Given the description of an element on the screen output the (x, y) to click on. 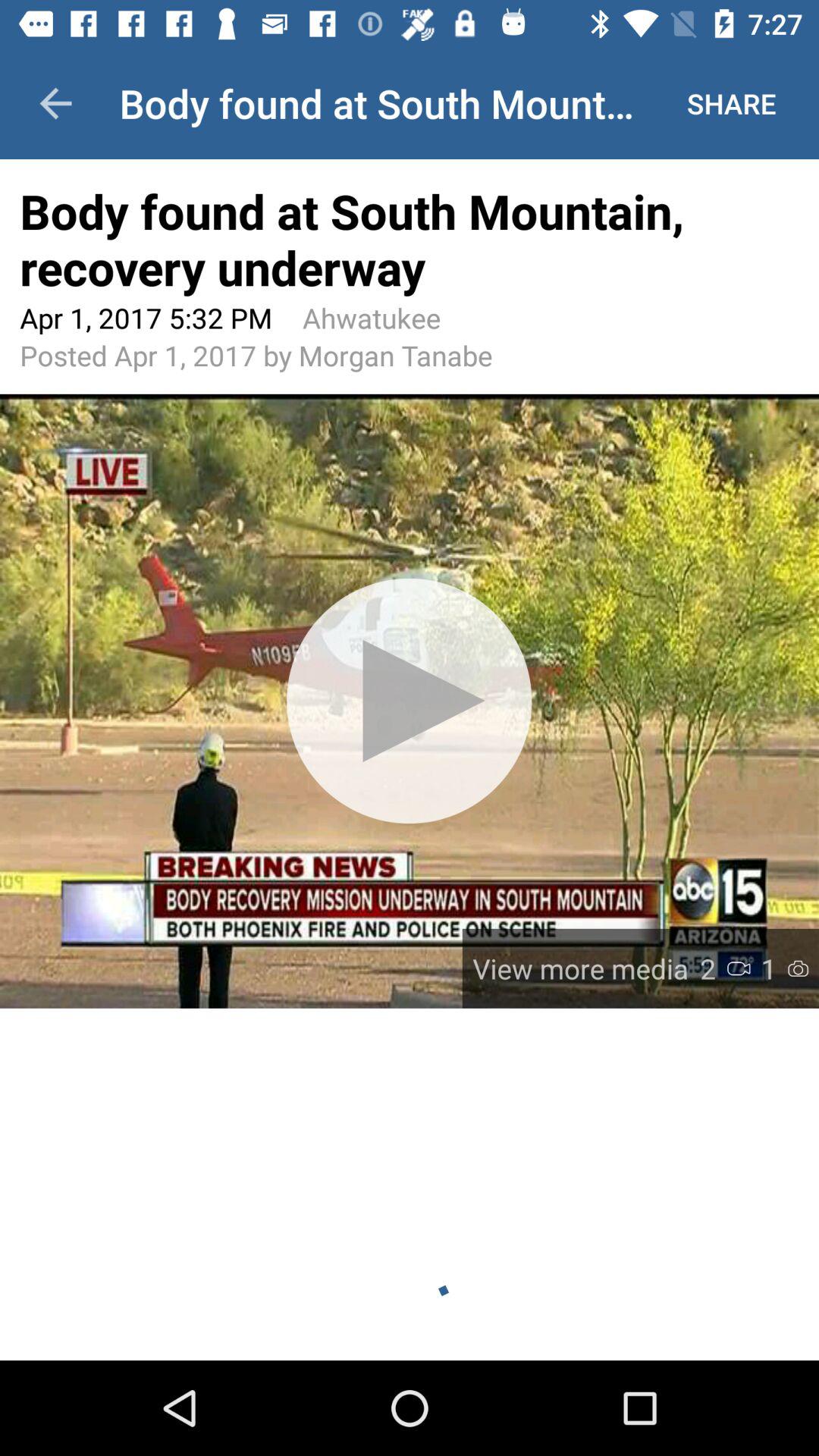
turn off app next to the body found at icon (731, 103)
